Given the description of an element on the screen output the (x, y) to click on. 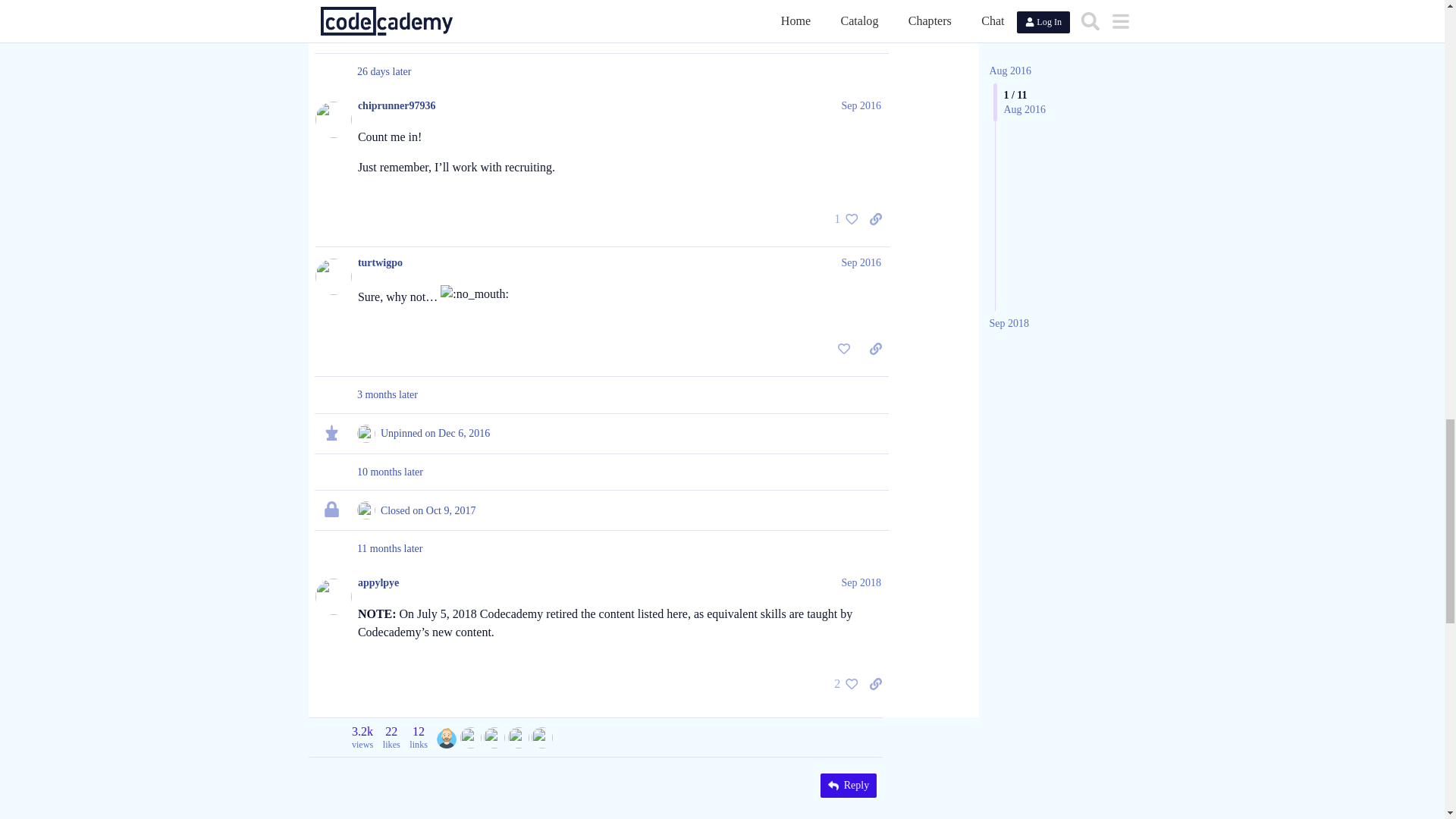
chiprunner97936 (494, 737)
mtf (470, 737)
alexc (446, 736)
turtwigpo (518, 736)
alexc (446, 737)
chiprunner97936 (494, 736)
mtf (470, 736)
